Given the description of an element on the screen output the (x, y) to click on. 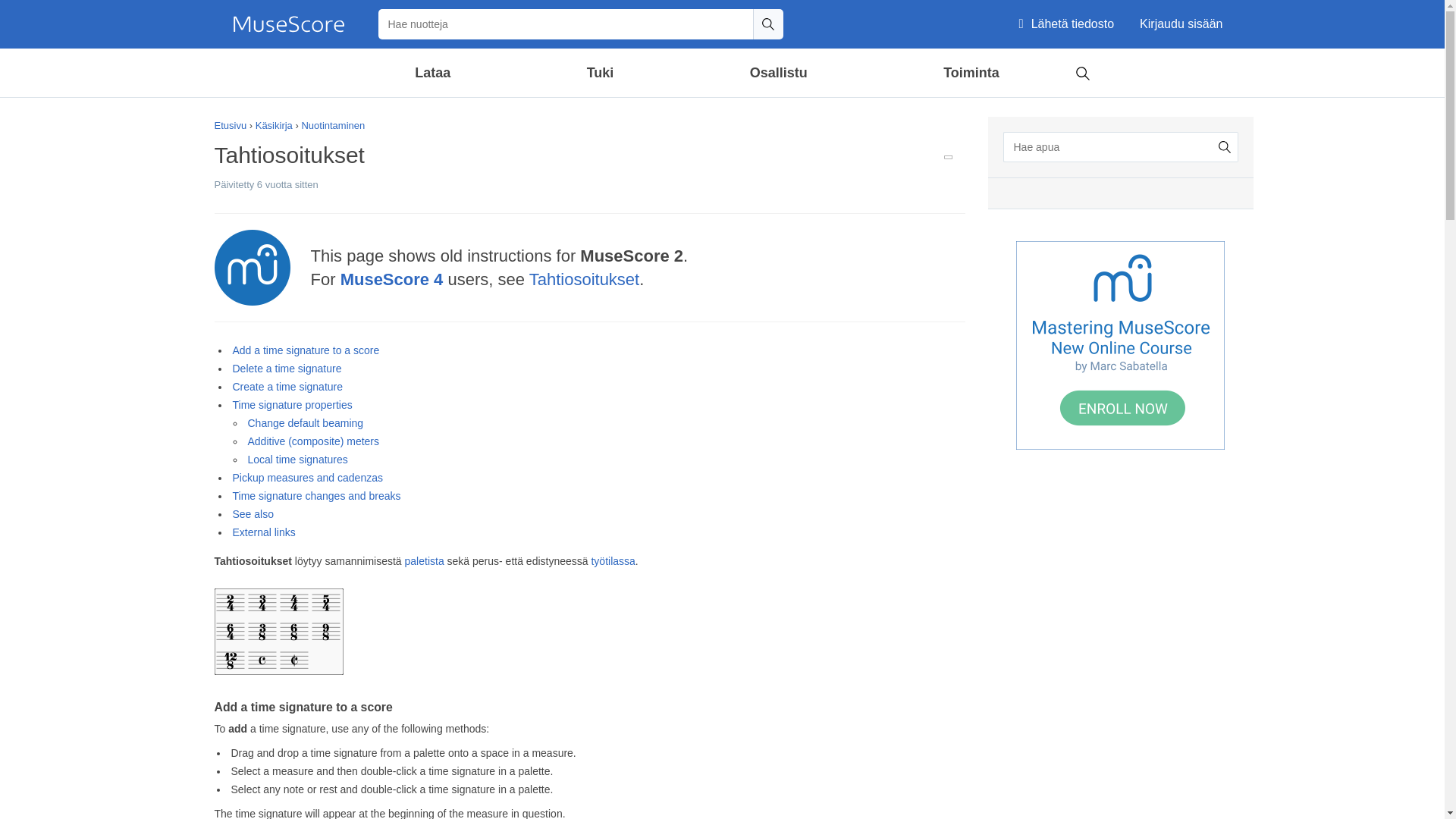
Osallistu (778, 72)
Lataa (432, 72)
Etusivu (287, 23)
Time signature palette (278, 631)
Tuki (599, 72)
Haku (1082, 71)
MuseScore (287, 23)
Kirjoita haluamasi hakusanat. (1109, 146)
Haku (767, 24)
Haku (767, 24)
Toiminta (971, 72)
